Given the description of an element on the screen output the (x, y) to click on. 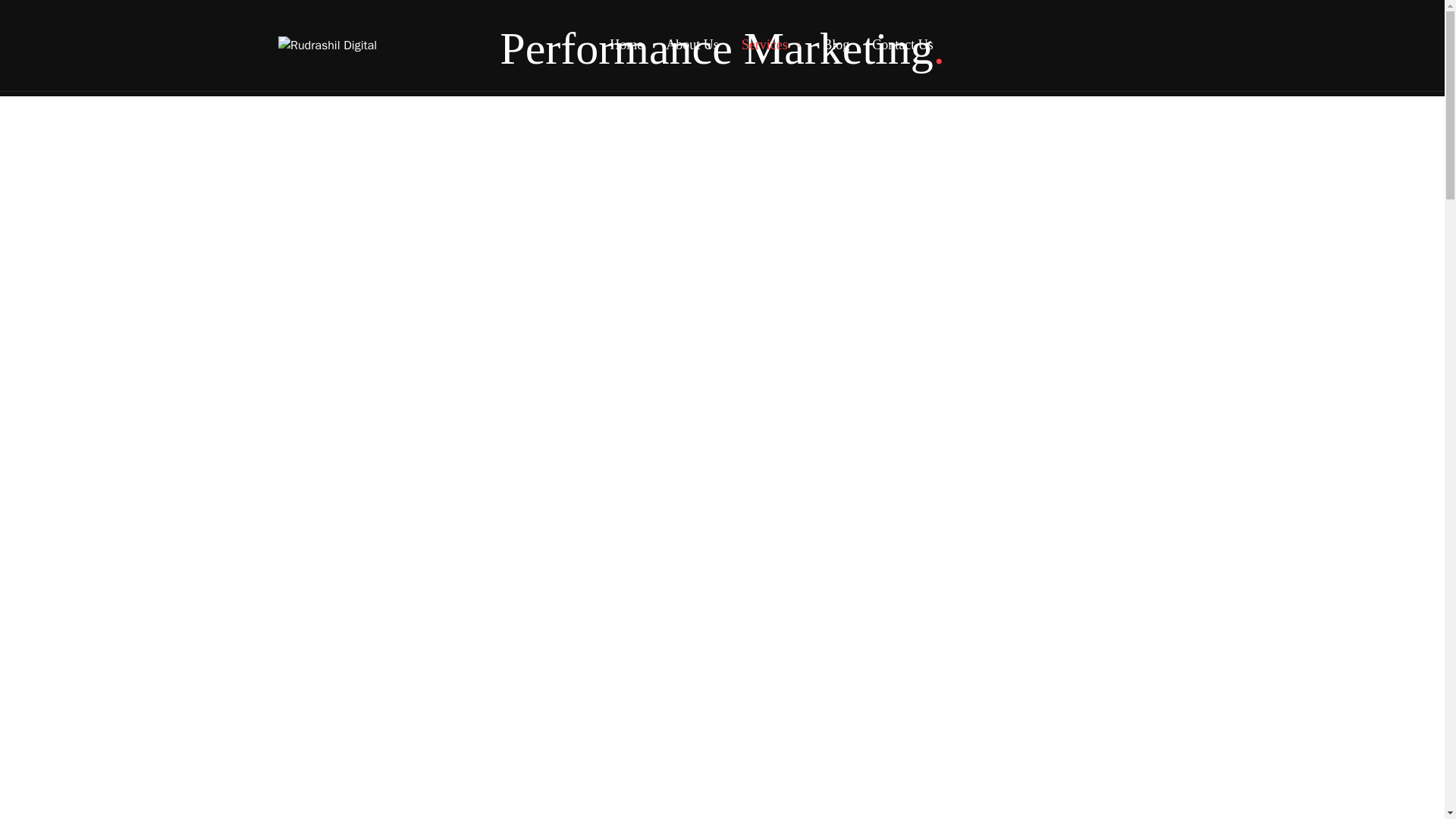
Home (626, 44)
Contact Us (902, 44)
About Us (692, 44)
Services  (770, 44)
Blog (835, 44)
Rudrashil Digital (327, 45)
